Given the description of an element on the screen output the (x, y) to click on. 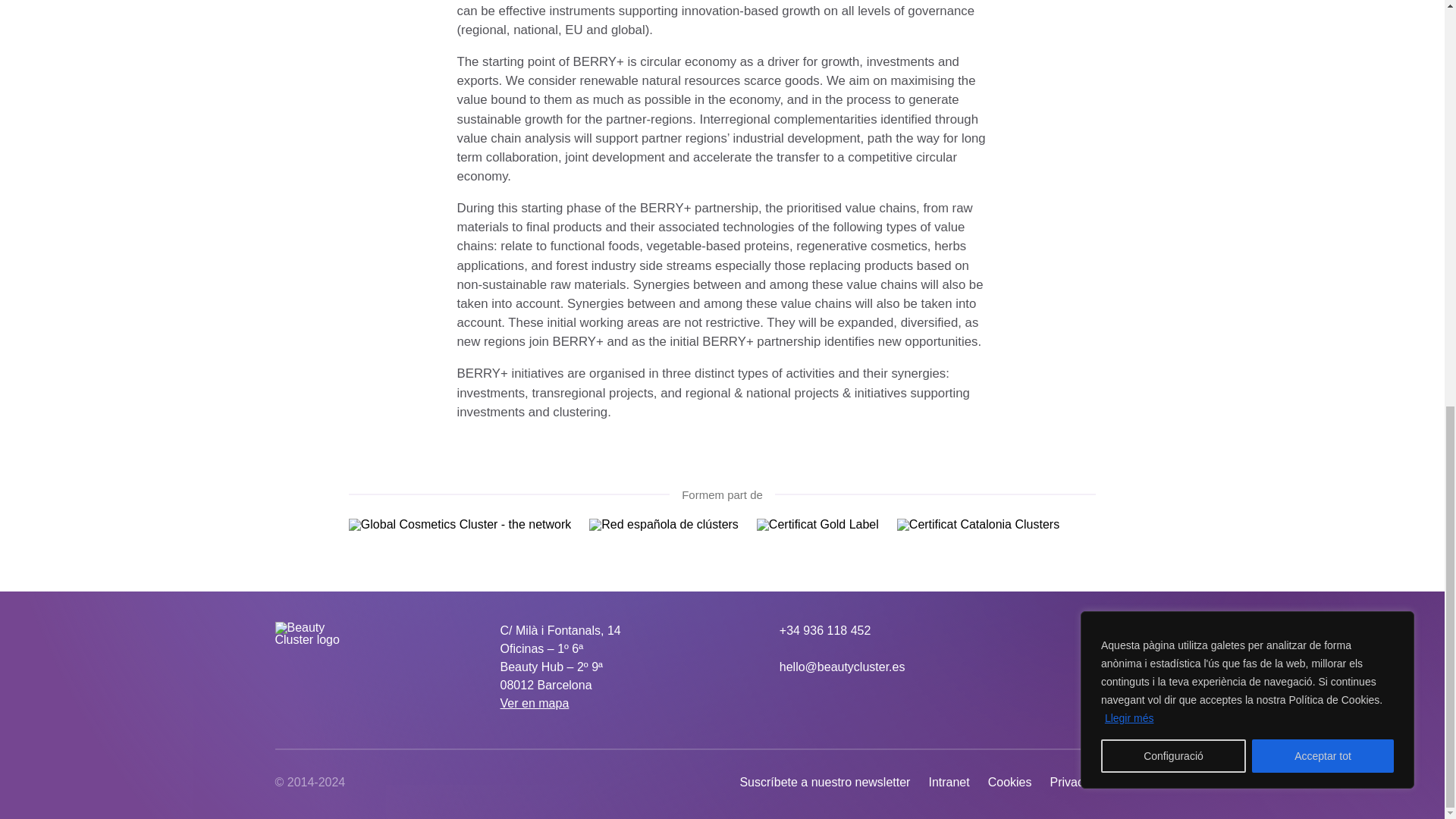
Youtube (1099, 630)
Instagram (1129, 630)
Linkedin (1038, 630)
Twitter (1068, 630)
Feed (1160, 630)
